Given the description of an element on the screen output the (x, y) to click on. 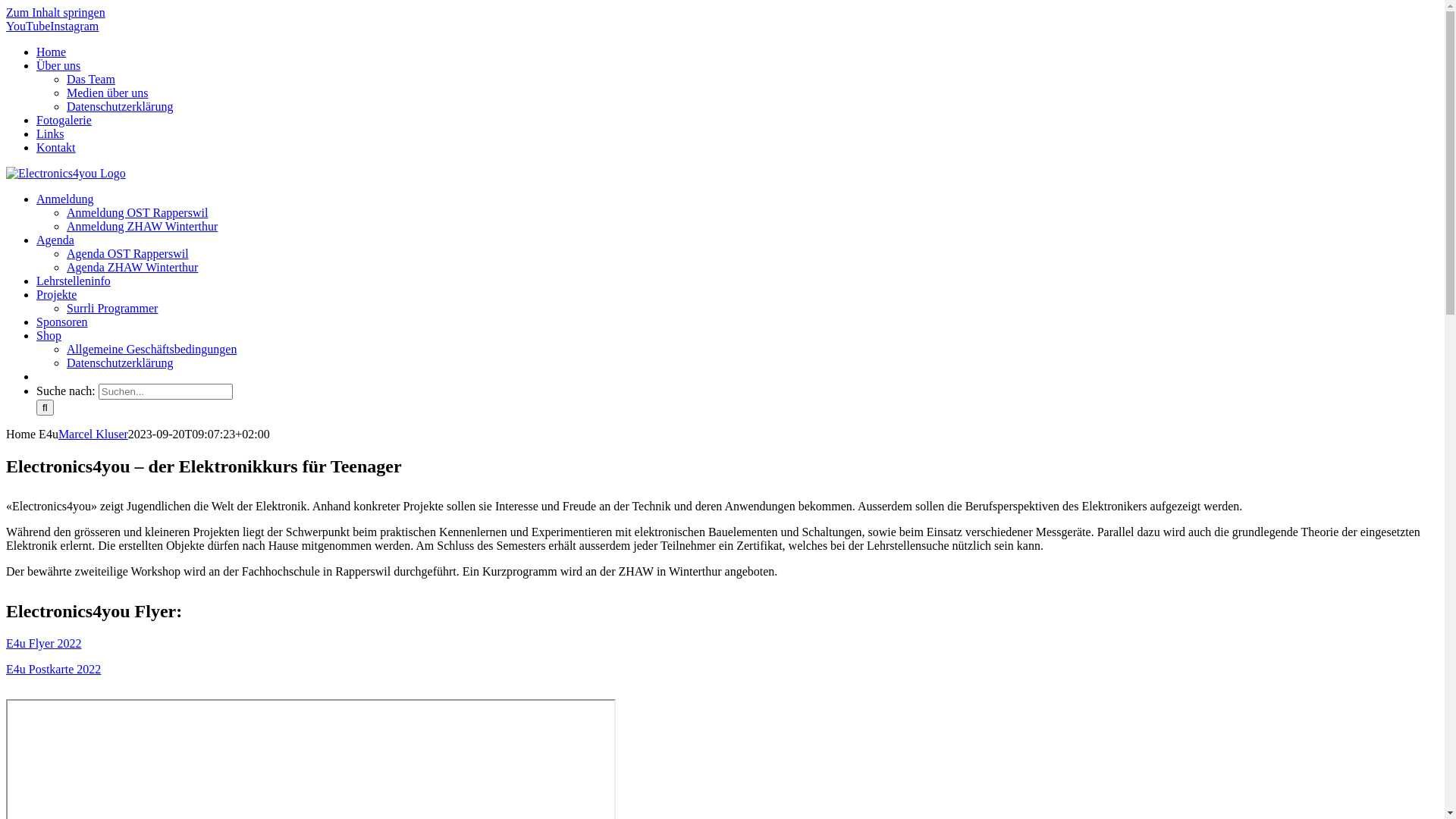
Agenda OST Rapperswil Element type: text (127, 253)
Anmeldung ZHAW Winterthur Element type: text (141, 225)
E4u Flyer 2022 Element type: text (43, 643)
Anmeldung OST Rapperswil Element type: text (136, 212)
Zum Inhalt springen Element type: text (55, 12)
Anmeldung Element type: text (65, 198)
Instagram Element type: text (74, 25)
Agenda Element type: text (55, 239)
Fotogalerie Element type: text (63, 119)
Home Element type: text (50, 51)
E4u Postkarte 2022 Element type: text (53, 668)
Surrli Programmer Element type: text (111, 307)
Lehrstelleninfo Element type: text (73, 280)
Projekte Element type: text (56, 294)
Sponsoren Element type: text (61, 321)
Links Element type: text (49, 133)
Agenda ZHAW Winterthur Element type: text (131, 266)
Shop Element type: text (48, 335)
Kontakt Element type: text (55, 147)
YouTube Element type: text (28, 25)
Das Team Element type: text (90, 78)
Marcel Kluser Element type: text (93, 433)
